Given the description of an element on the screen output the (x, y) to click on. 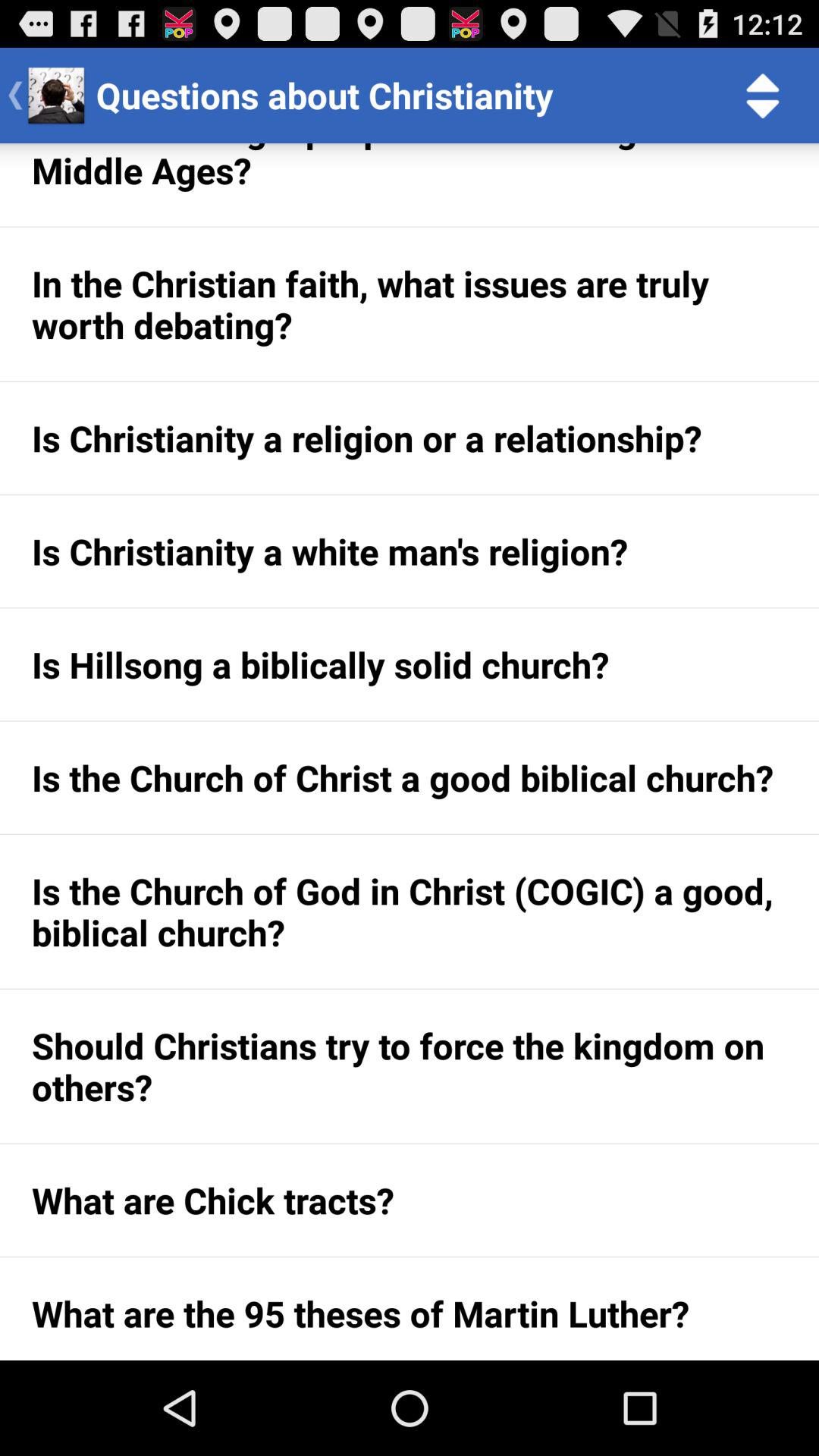
click the icon above the in the christian icon (409, 184)
